Given the description of an element on the screen output the (x, y) to click on. 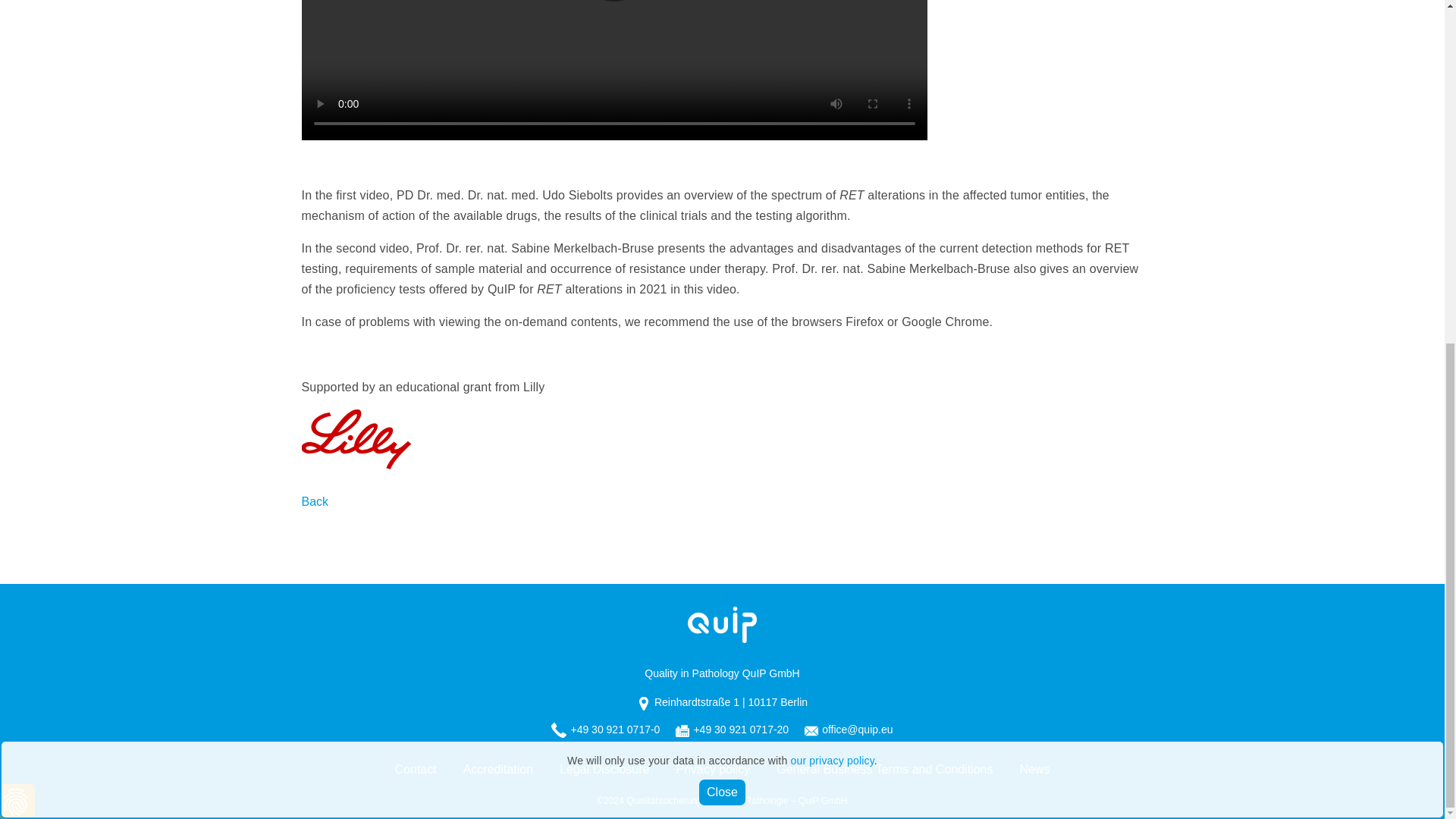
Play Video (613, 0)
